Given the description of an element on the screen output the (x, y) to click on. 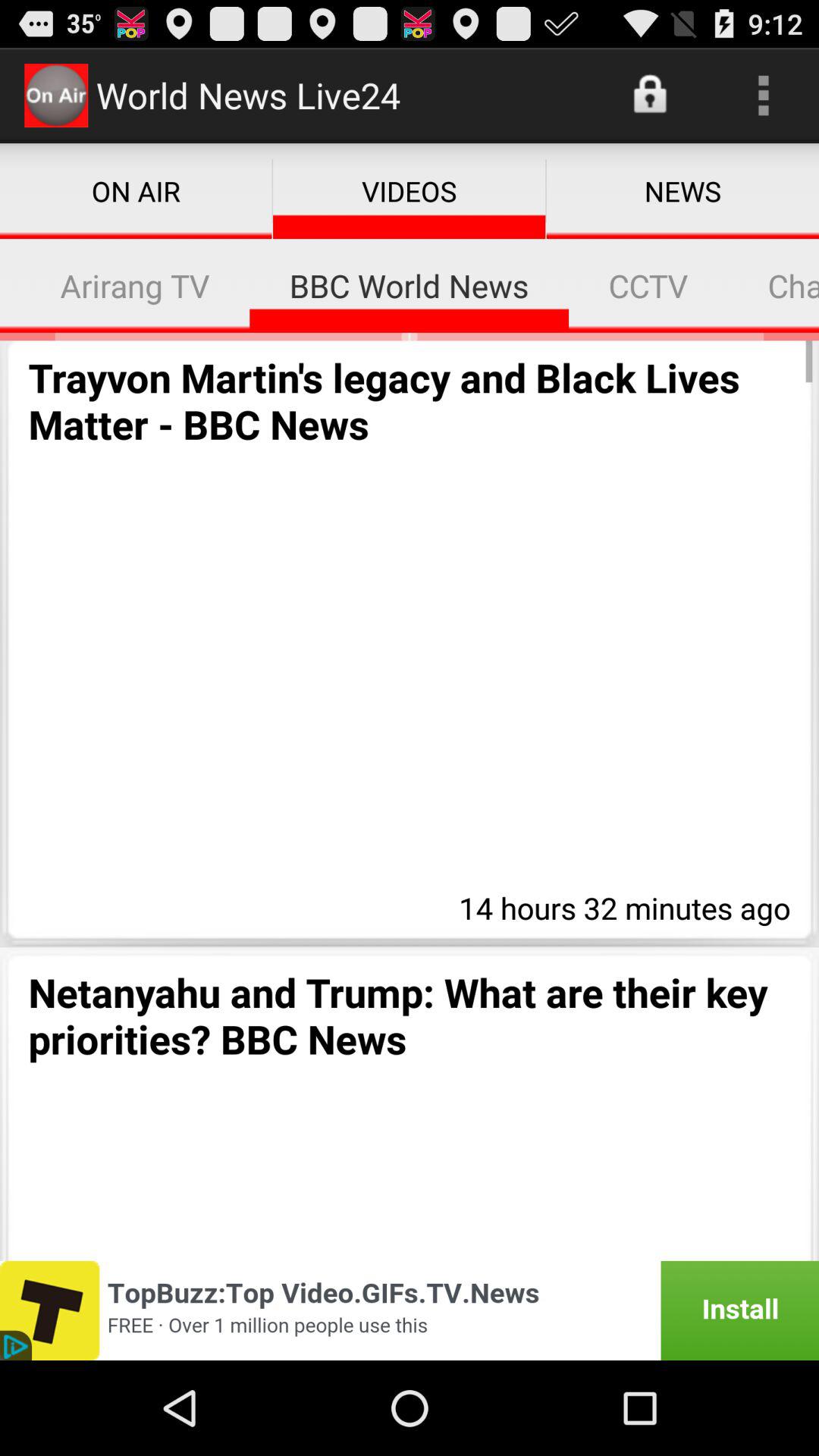
tap cctv      item (648, 285)
